Given the description of an element on the screen output the (x, y) to click on. 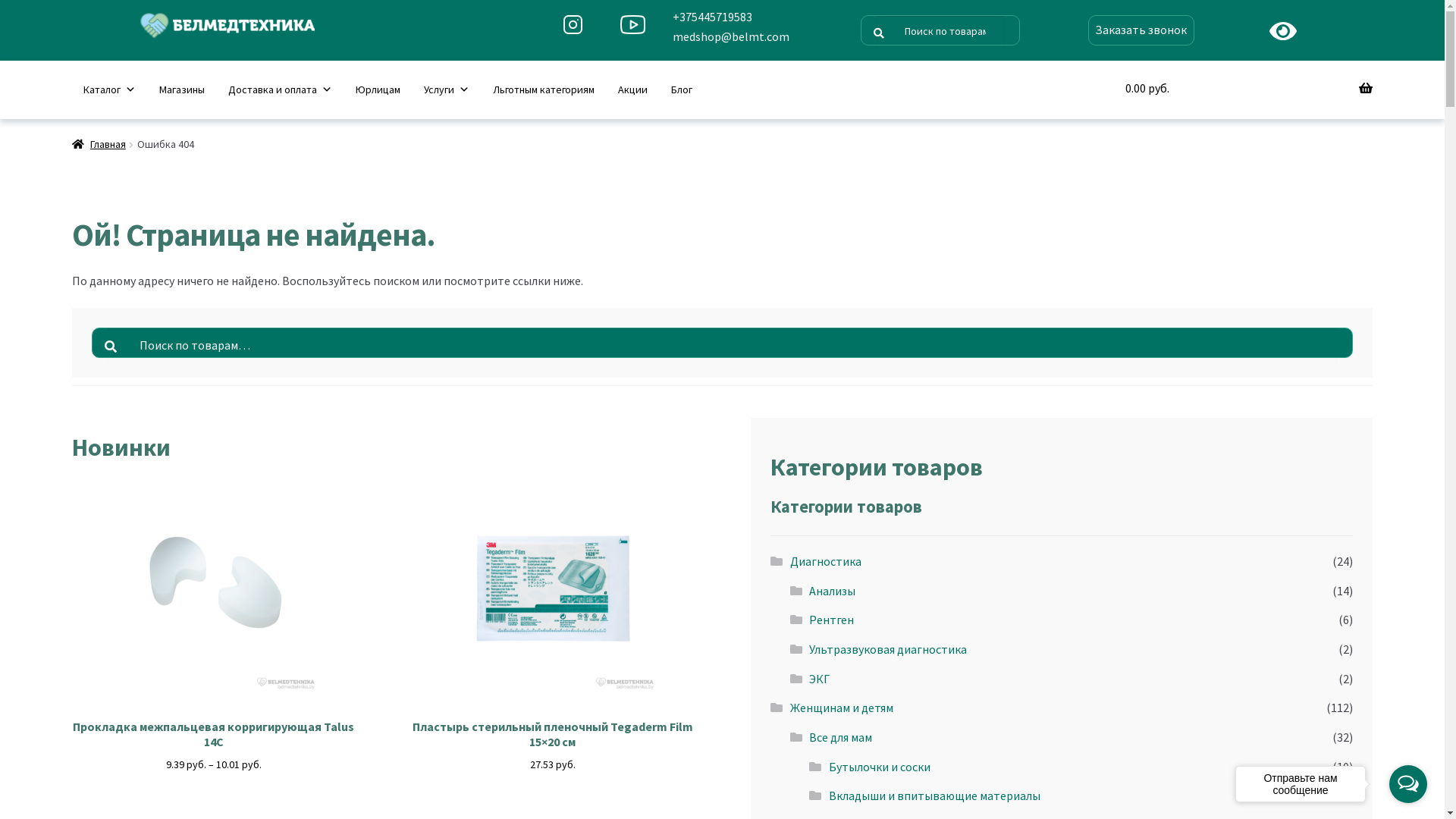
medshop@belmt.com Element type: text (730, 37)
+375445719583 Element type: text (730, 17)
